Given the description of an element on the screen output the (x, y) to click on. 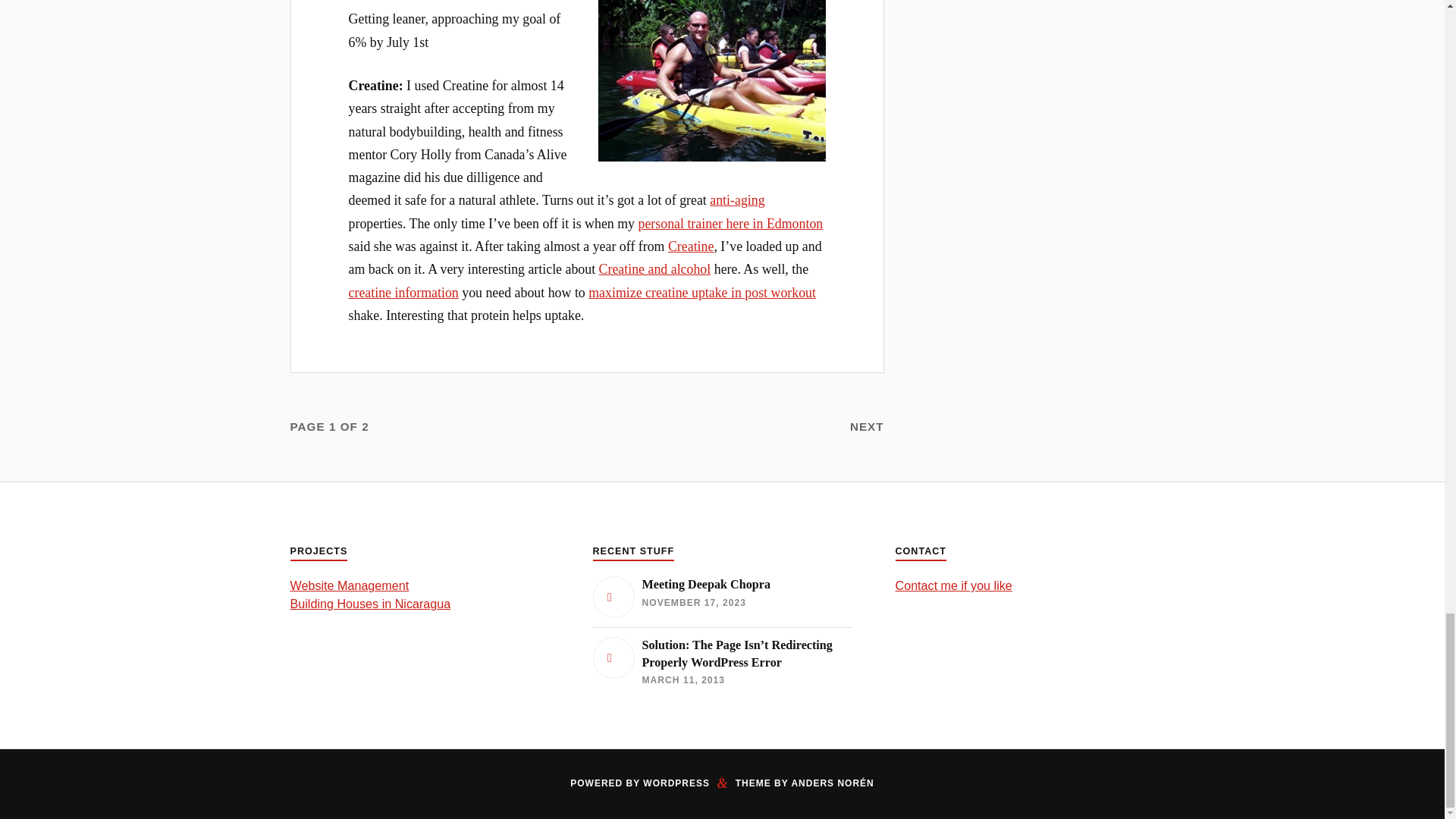
panama-kayak-costa-rica-cruise (711, 80)
